Given the description of an element on the screen output the (x, y) to click on. 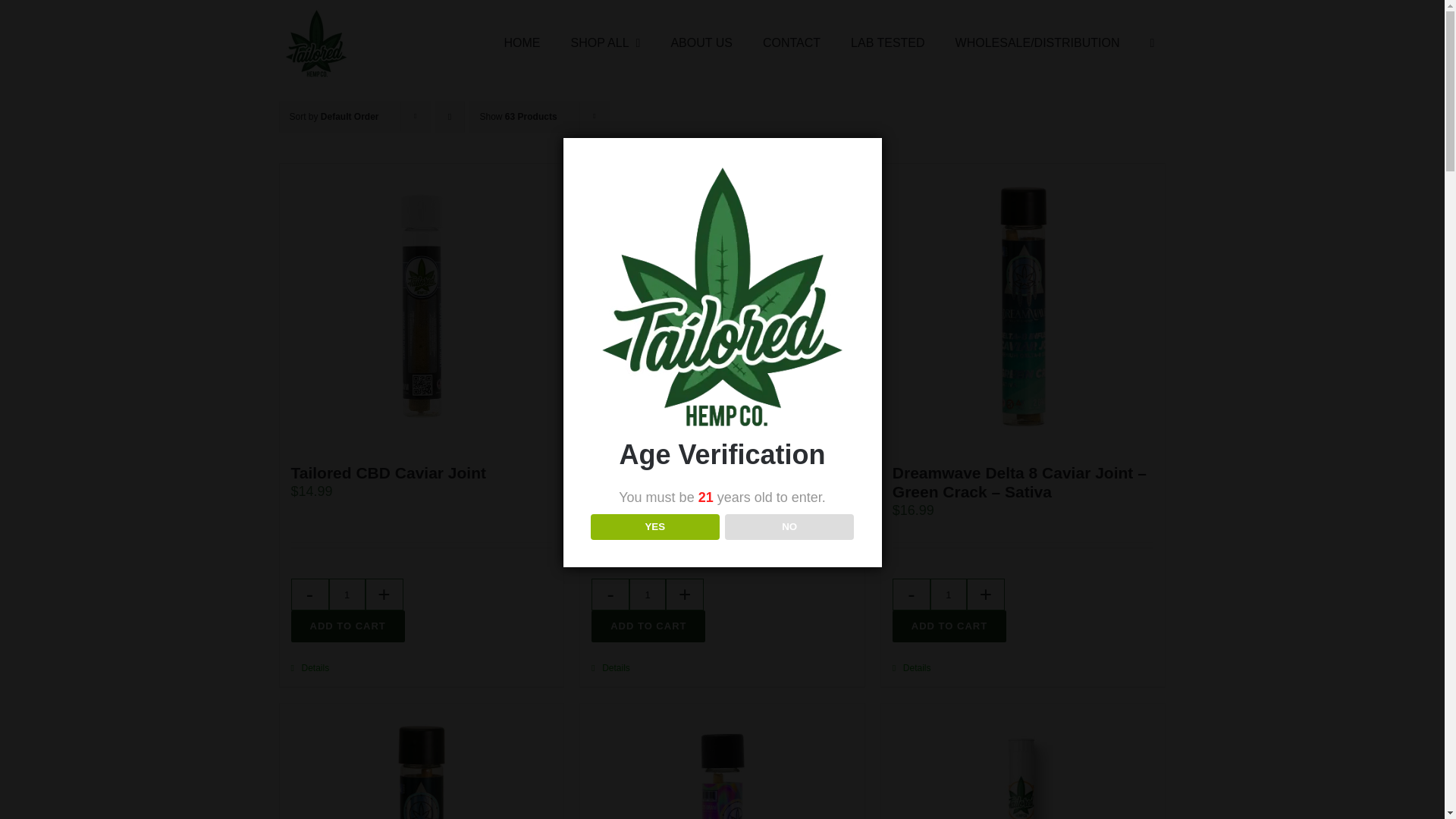
Fort Lauderdale CBD Store (521, 43)
- (309, 594)
1 (647, 594)
ABOUT US (700, 43)
- (610, 594)
- (911, 594)
1 (346, 594)
CONTACT (791, 43)
SHOP ALL (605, 43)
HOME (521, 43)
LAB TESTED (887, 43)
1 (949, 594)
